Given the description of an element on the screen output the (x, y) to click on. 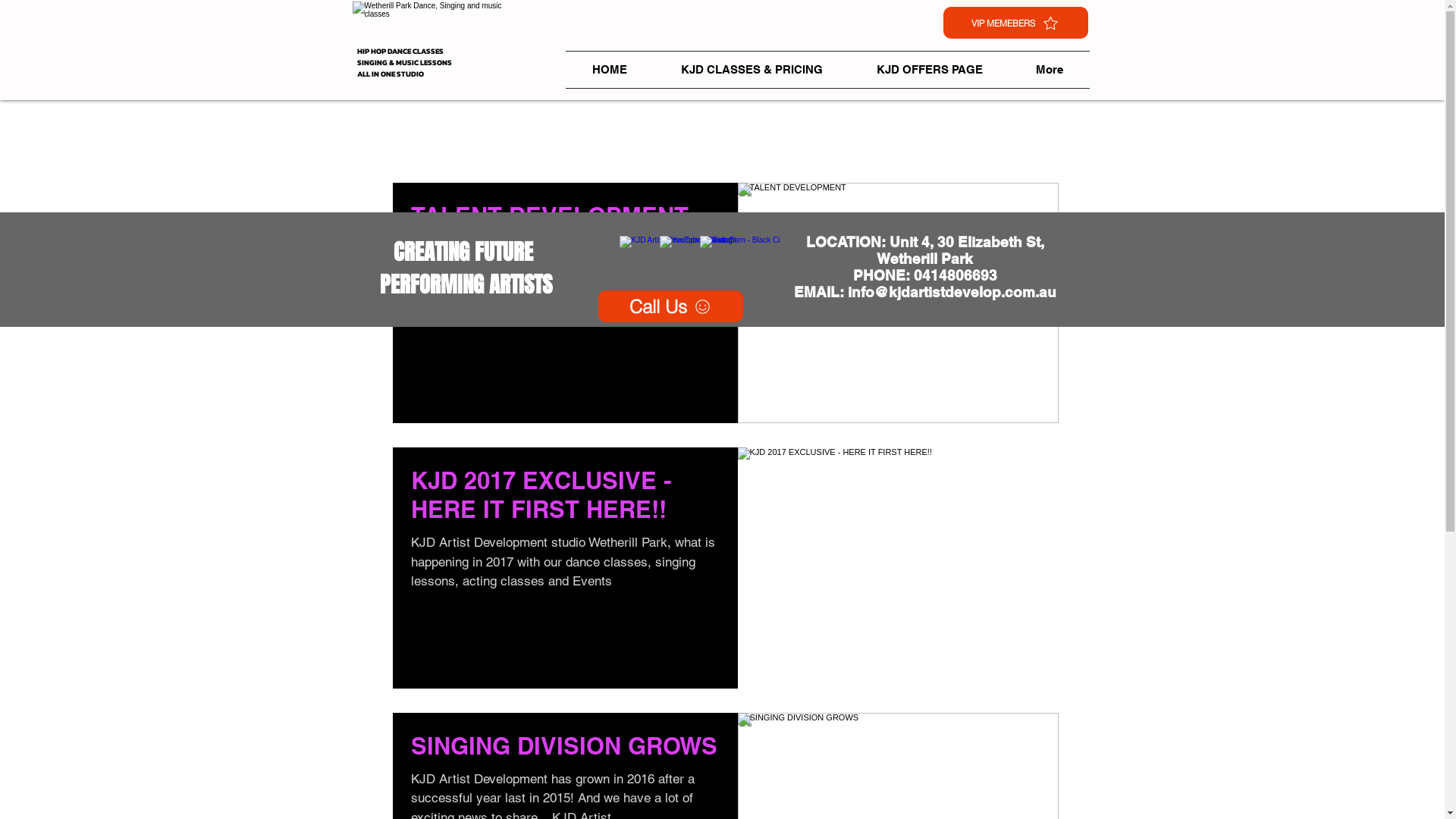
classes wetherill Park, dance, singing and Acting Element type: hover (436, 27)
VIP MEMEBERS Element type: text (1015, 22)
TALENT DEVELOPMENT Element type: text (565, 219)
KJD OFFERS PAGE Element type: text (928, 69)
KJD CLASSES & PRICING Element type: text (751, 69)
info@kjdartistdevelop.com.au Element type: text (951, 291)
SINGING DIVISION GROWS Element type: text (565, 750)
KJD 2017 EXCLUSIVE - HERE IT FIRST HERE!! Element type: text (565, 499)
Call Us Element type: text (669, 306)
HOME Element type: text (609, 69)
